Given the description of an element on the screen output the (x, y) to click on. 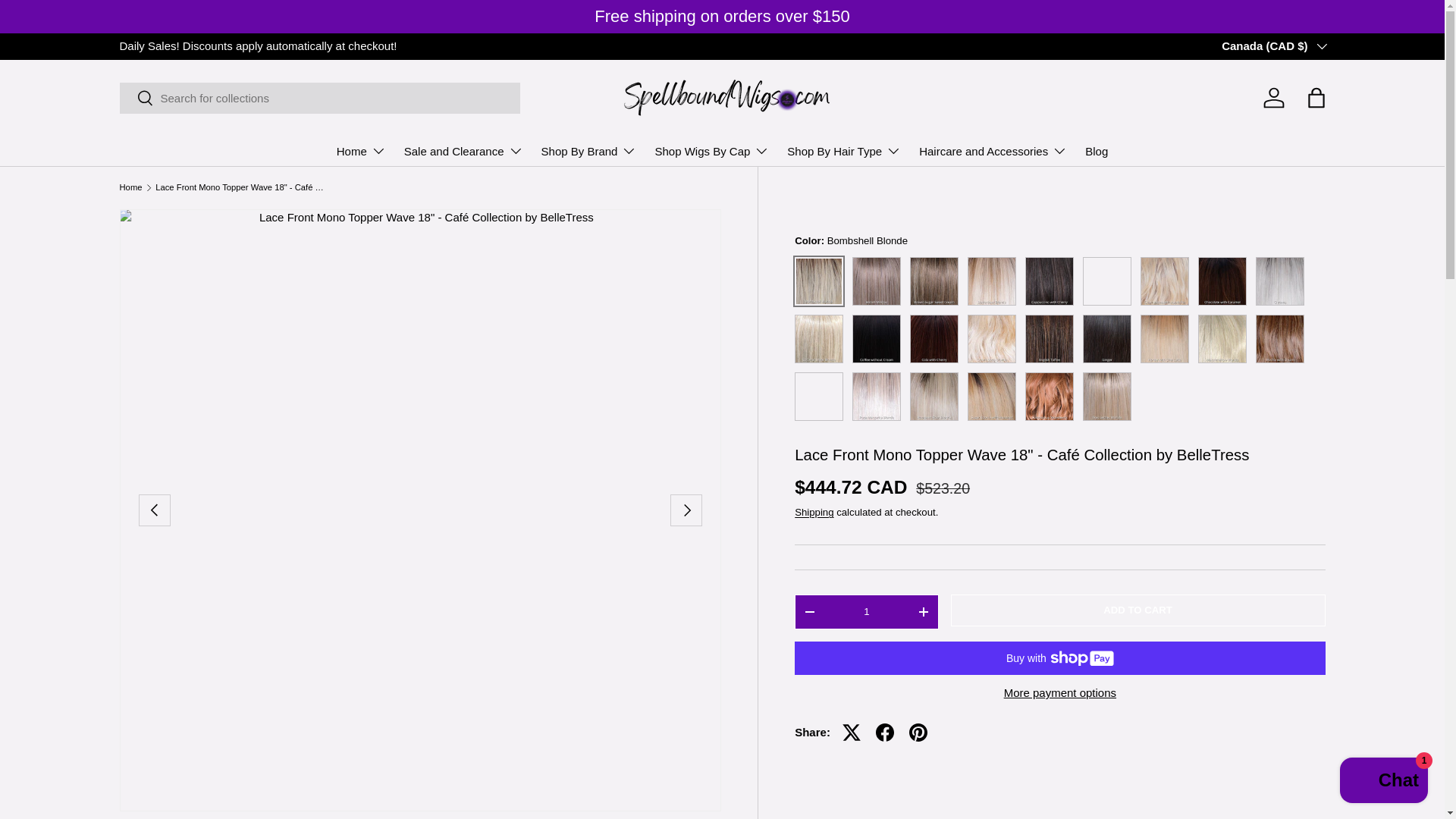
Search (136, 99)
Shop By Brand (589, 150)
Share on Facebook (884, 732)
Tweet on X (850, 732)
Log in (1273, 96)
Home (360, 150)
SKIP TO CONTENT (68, 21)
